Given the description of an element on the screen output the (x, y) to click on. 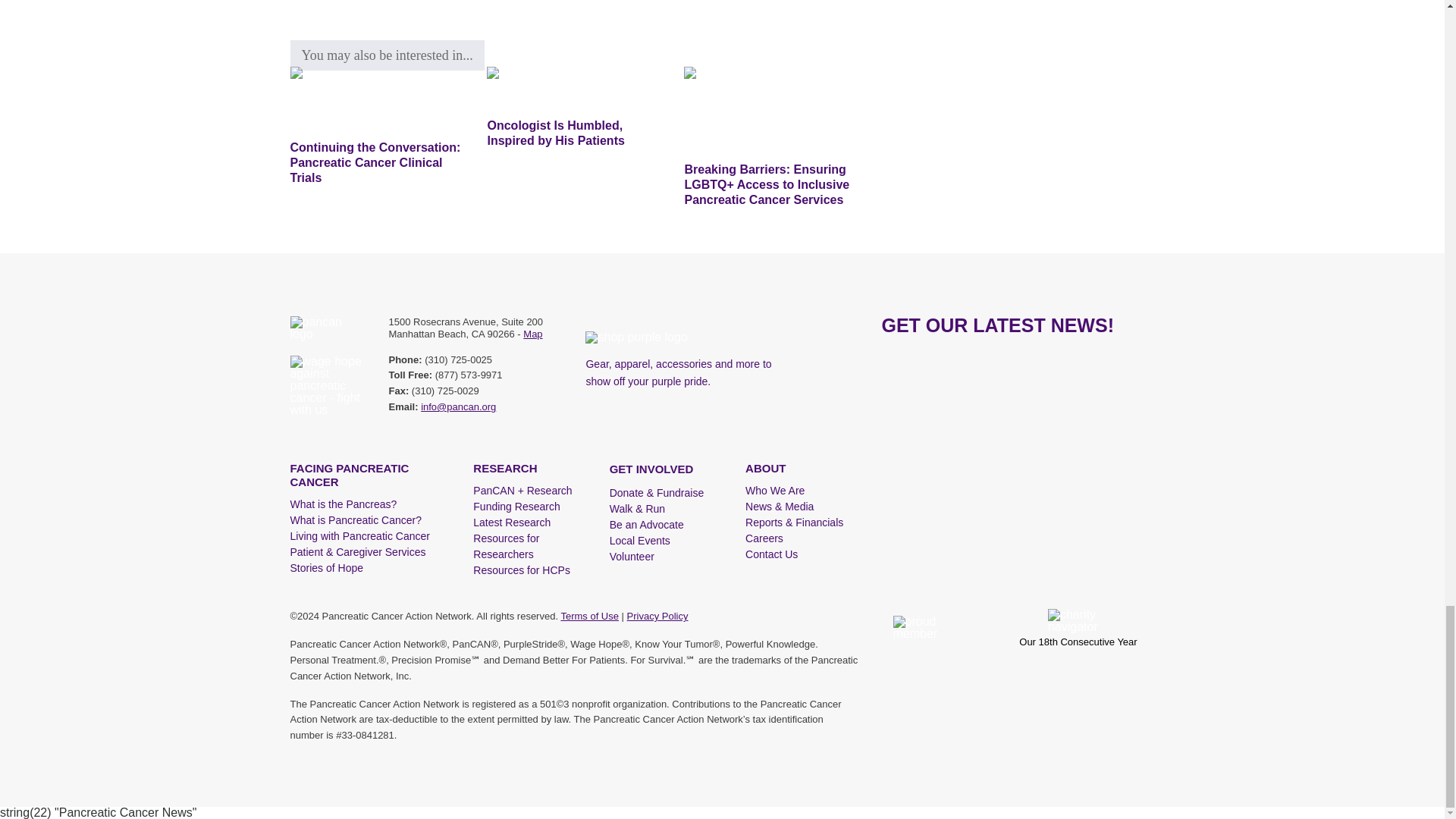
Oncologist Is Humbled, Inspired by His Patients (573, 88)
